Given the description of an element on the screen output the (x, y) to click on. 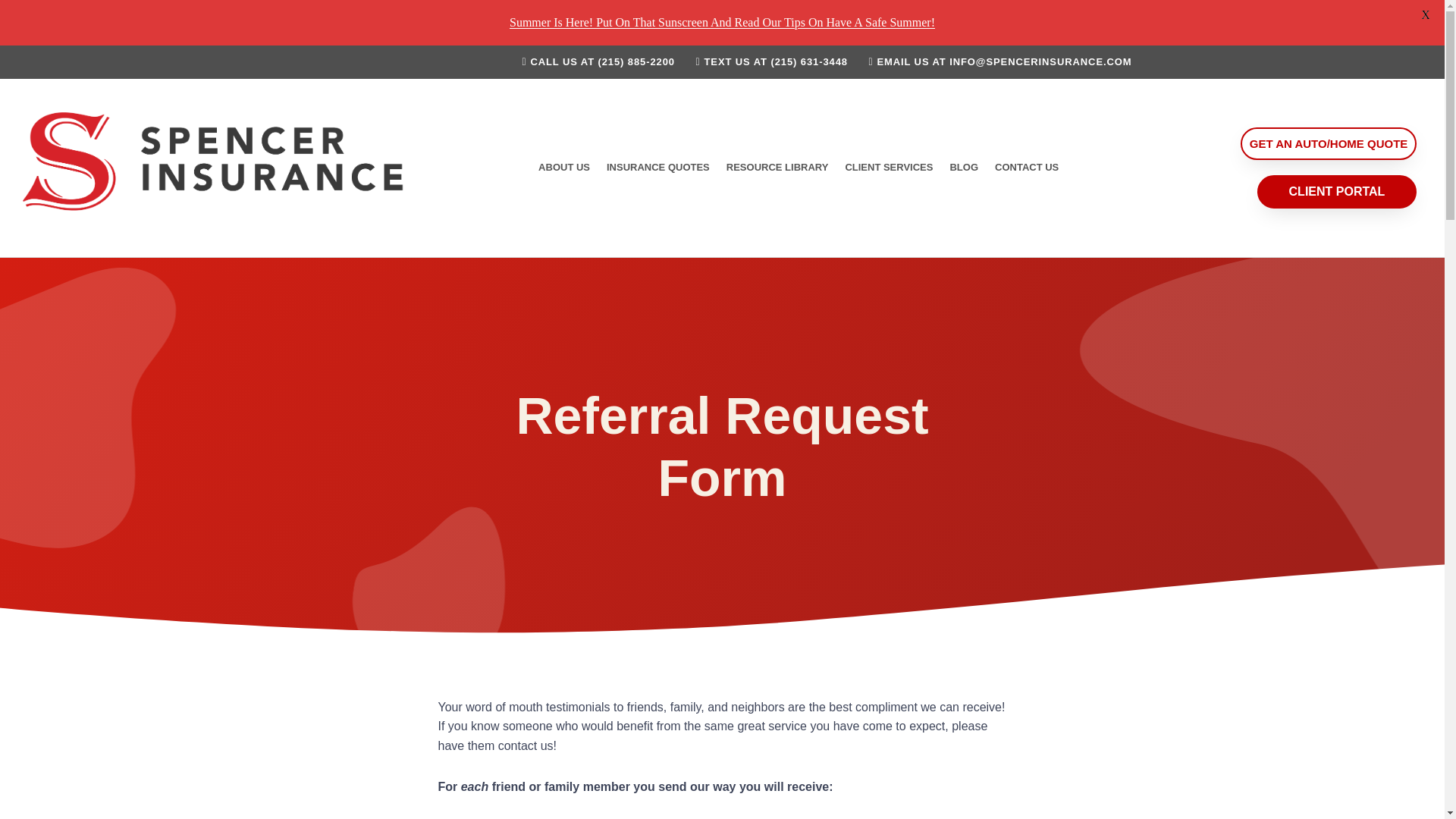
CONTACT US (1027, 167)
INSURANCE QUOTES (657, 167)
ABOUT US (563, 167)
RESOURCE LIBRARY (777, 167)
BLOG (963, 167)
CLIENT PORTAL (1336, 191)
CLIENT SERVICES (887, 167)
